Given the description of an element on the screen output the (x, y) to click on. 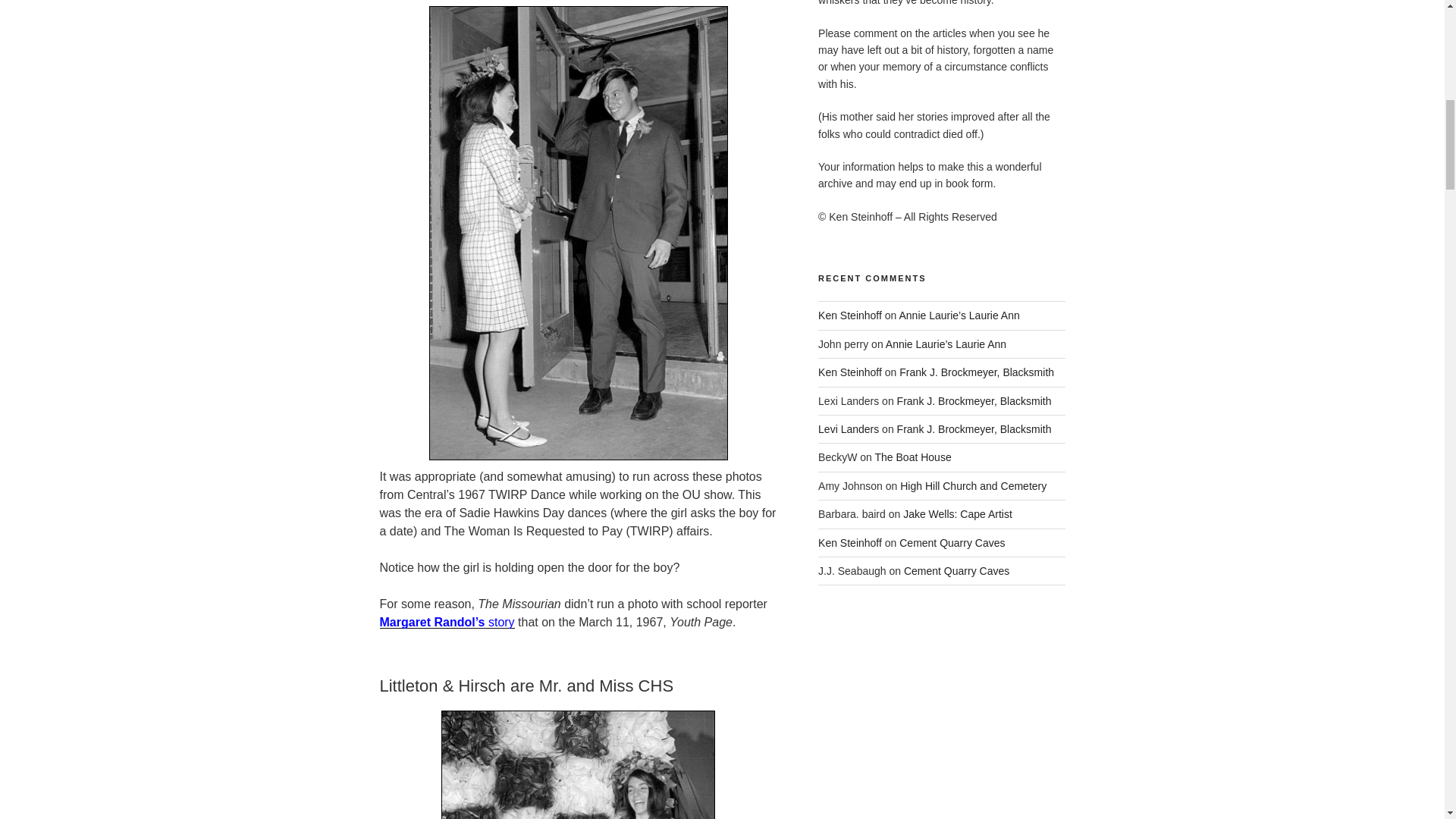
Twirp story (445, 621)
Jake Wells: Cape Artist (956, 513)
Ken Steinhoff (850, 542)
Ken Steinhoff (850, 315)
Frank J. Brockmeyer, Blacksmith (976, 372)
Cement Quarry Caves (951, 542)
Ken Steinhoff (850, 372)
Frank J. Brockmeyer, Blacksmith (973, 400)
The Boat House (913, 457)
High Hill Church and Cemetery (972, 485)
Levi Landers (848, 428)
Frank J. Brockmeyer, Blacksmith (973, 428)
Cement Quarry Caves (956, 571)
